Given the description of an element on the screen output the (x, y) to click on. 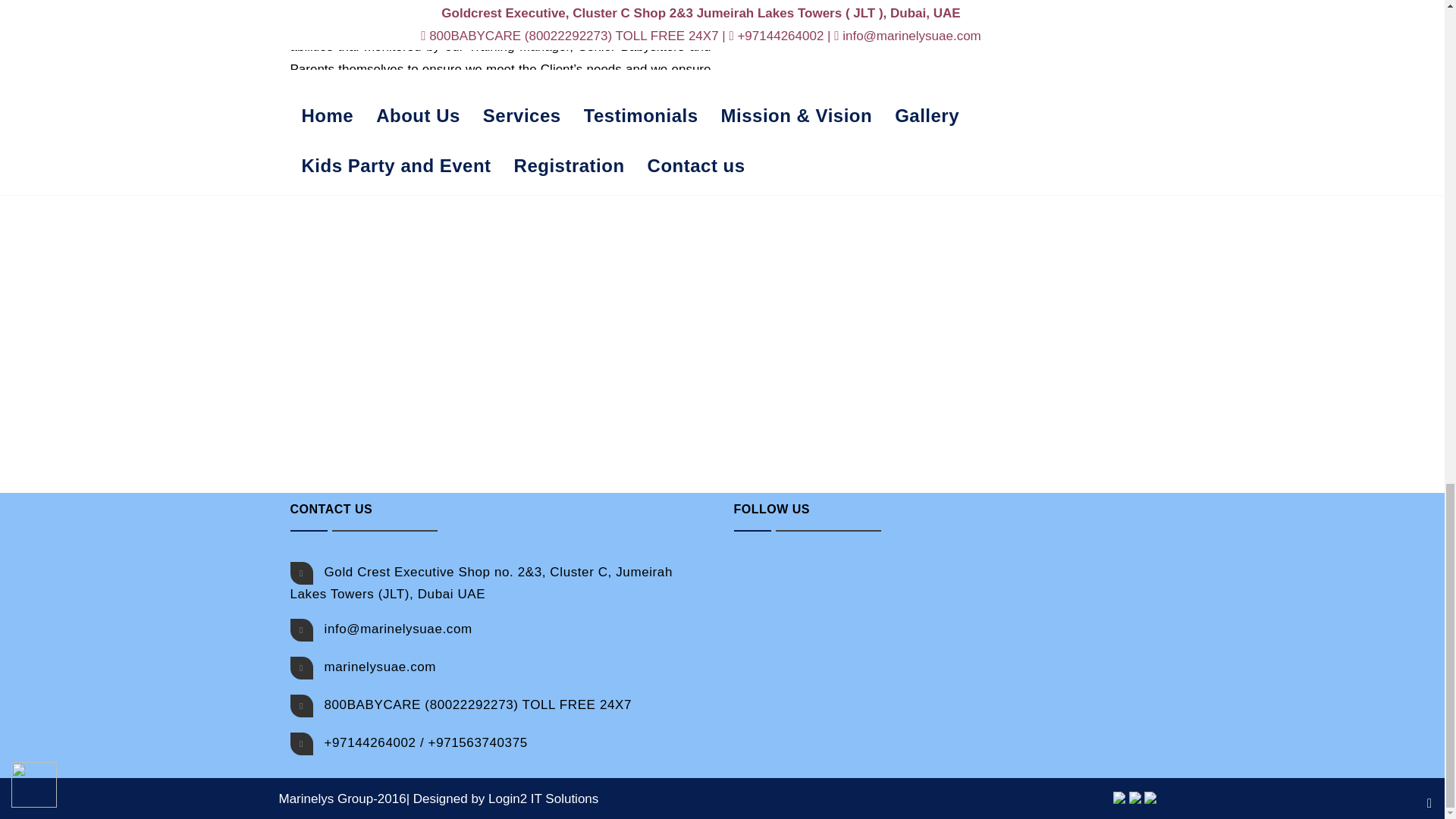
Login2 IT Solutions (542, 798)
marinelysuae.com (380, 667)
